Given the description of an element on the screen output the (x, y) to click on. 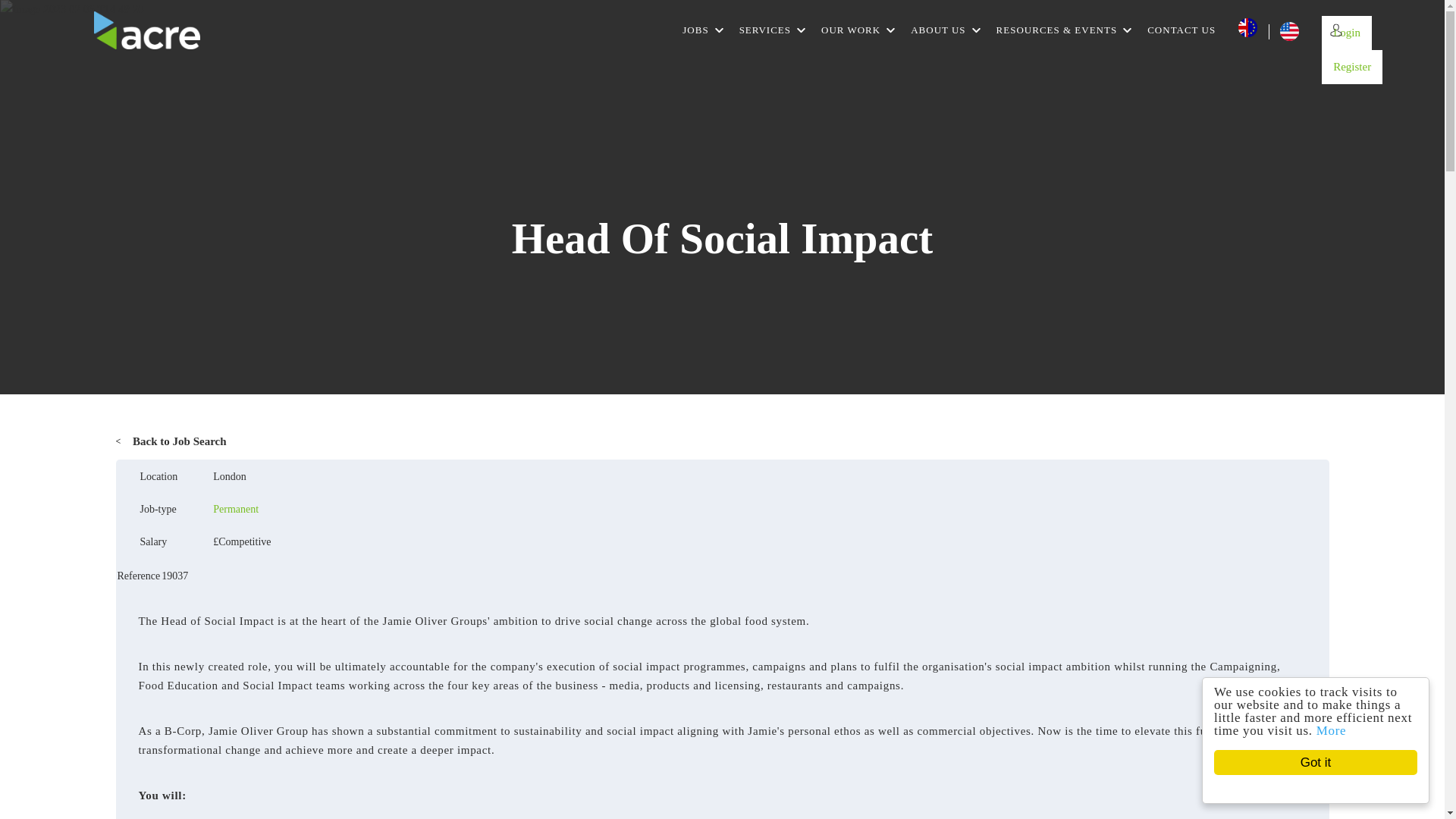
Go to the Homepage (147, 30)
More (1338, 730)
Got it (1324, 762)
Cookie Consent plugin for the EU cookie law (1321, 788)
